Given the description of an element on the screen output the (x, y) to click on. 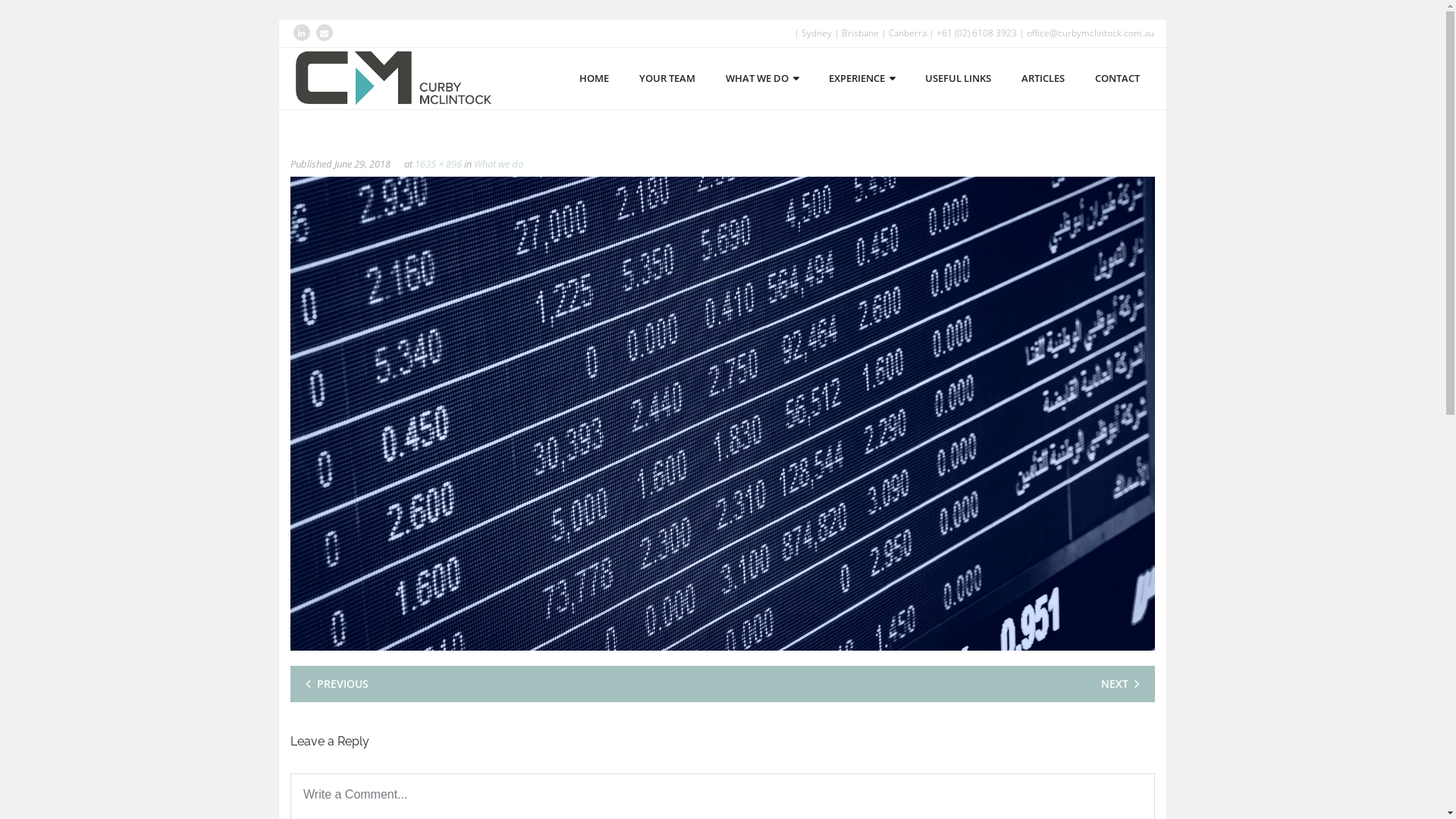
EXPERIENCE Element type: text (860, 78)
YOUR TEAM Element type: text (666, 78)
CONTACT Element type: text (1116, 78)
PREVIOUS Element type: text (338, 683)
HOME Element type: text (594, 78)
NEXT Element type: text (1117, 683)
USEFUL LINKS Element type: text (958, 78)
ARTICLES Element type: text (1042, 78)
WHAT WE DO Element type: text (760, 78)
What we do Element type: text (497, 163)
